Given the description of an element on the screen output the (x, y) to click on. 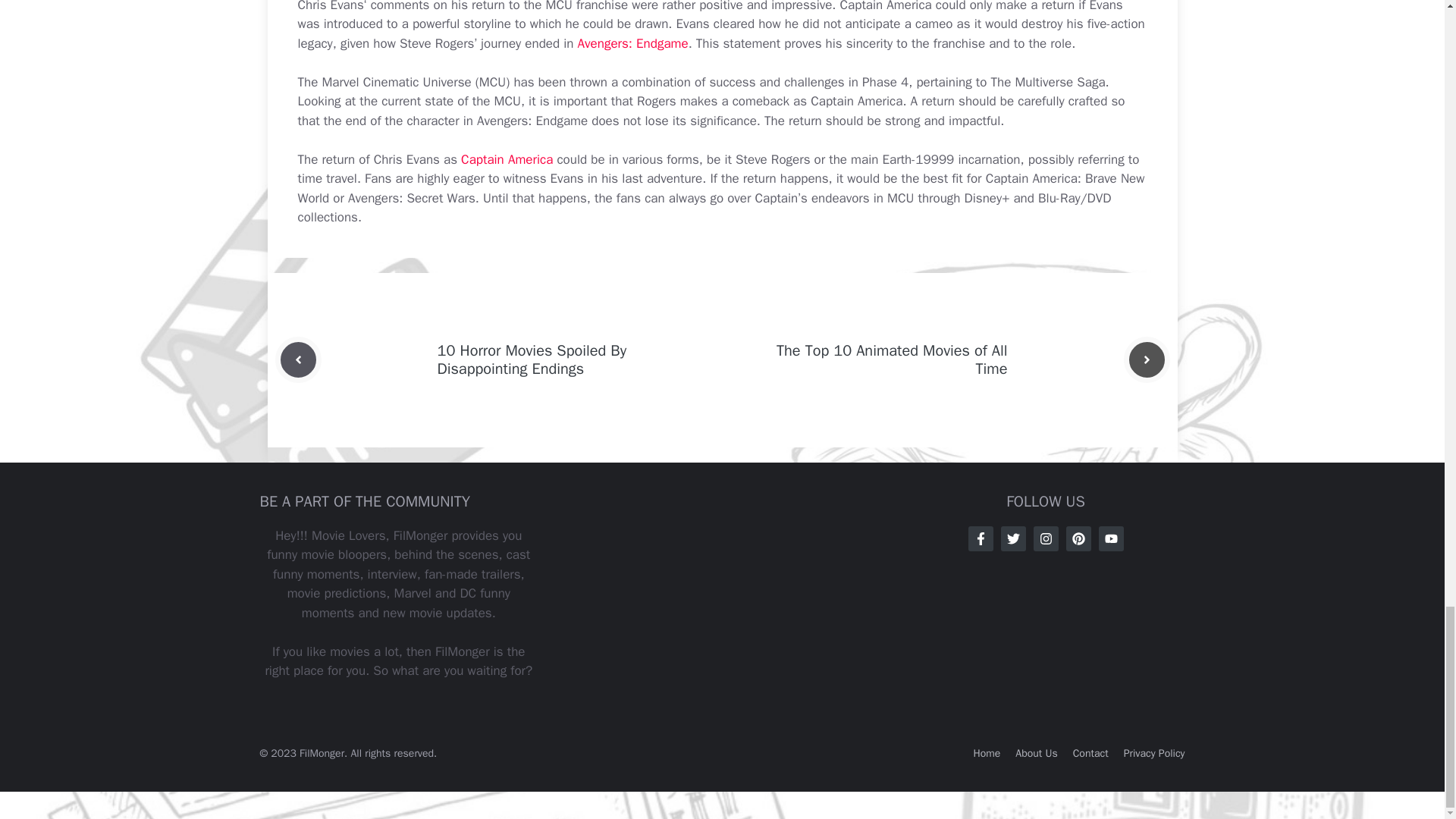
Captain America (507, 159)
Avengers: Endgame (633, 43)
Captain America (507, 159)
